Given the description of an element on the screen output the (x, y) to click on. 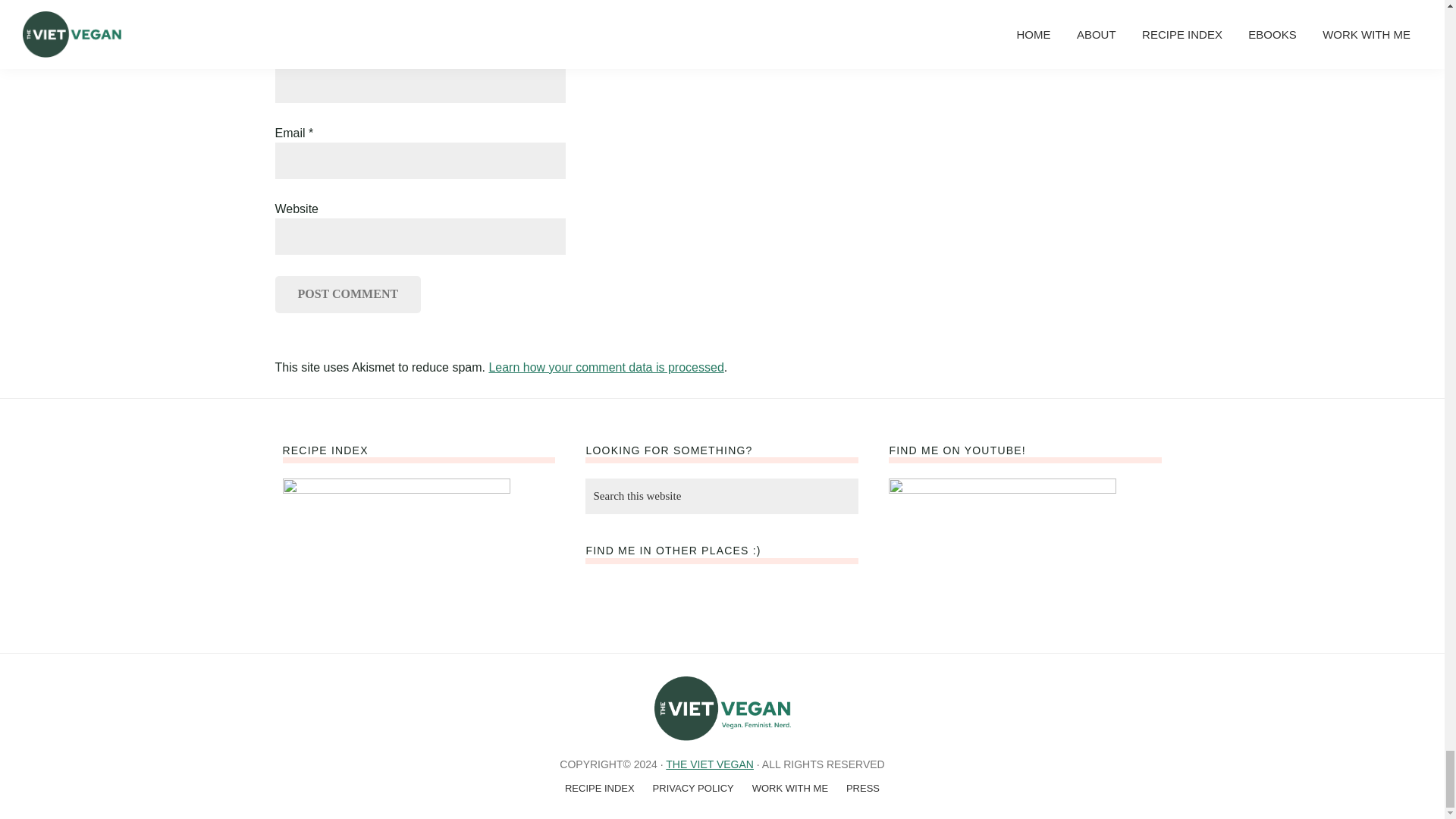
Find me on YouTube! (1002, 553)
Post Comment (347, 294)
